Given the description of an element on the screen output the (x, y) to click on. 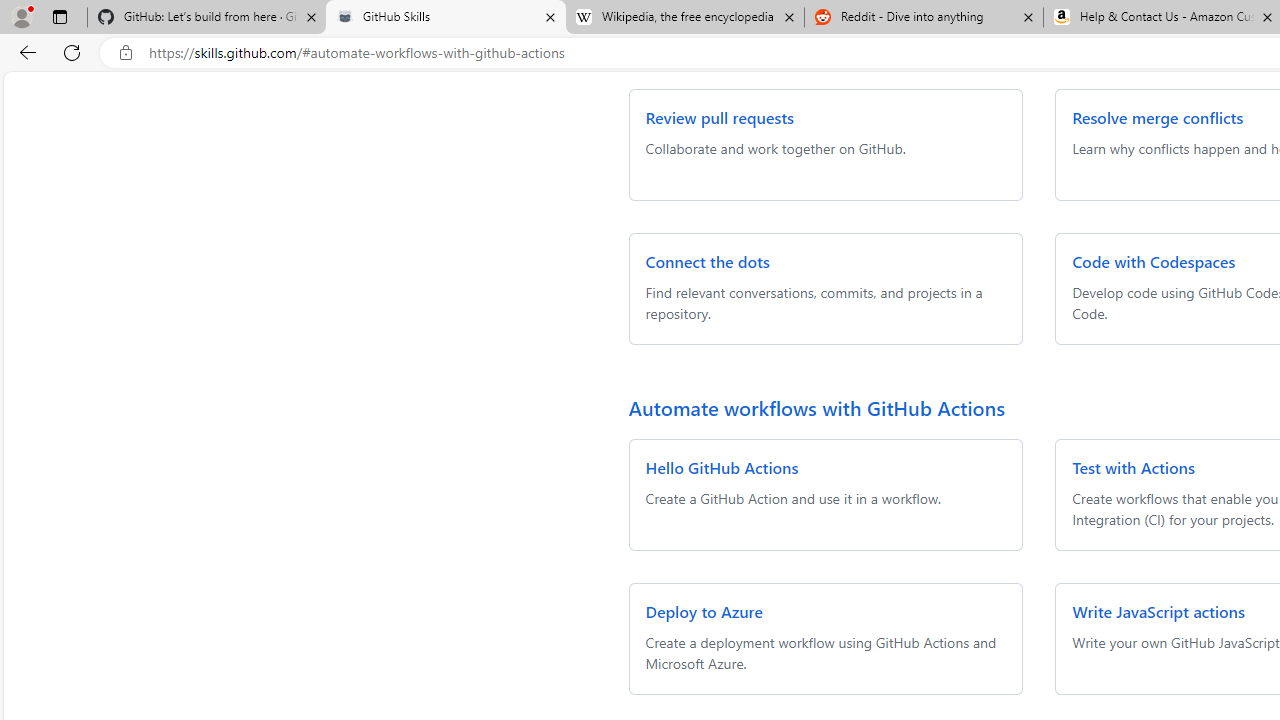
Hello GitHub Actions (721, 467)
Wikipedia, the free encyclopedia (684, 17)
